Given the description of an element on the screen output the (x, y) to click on. 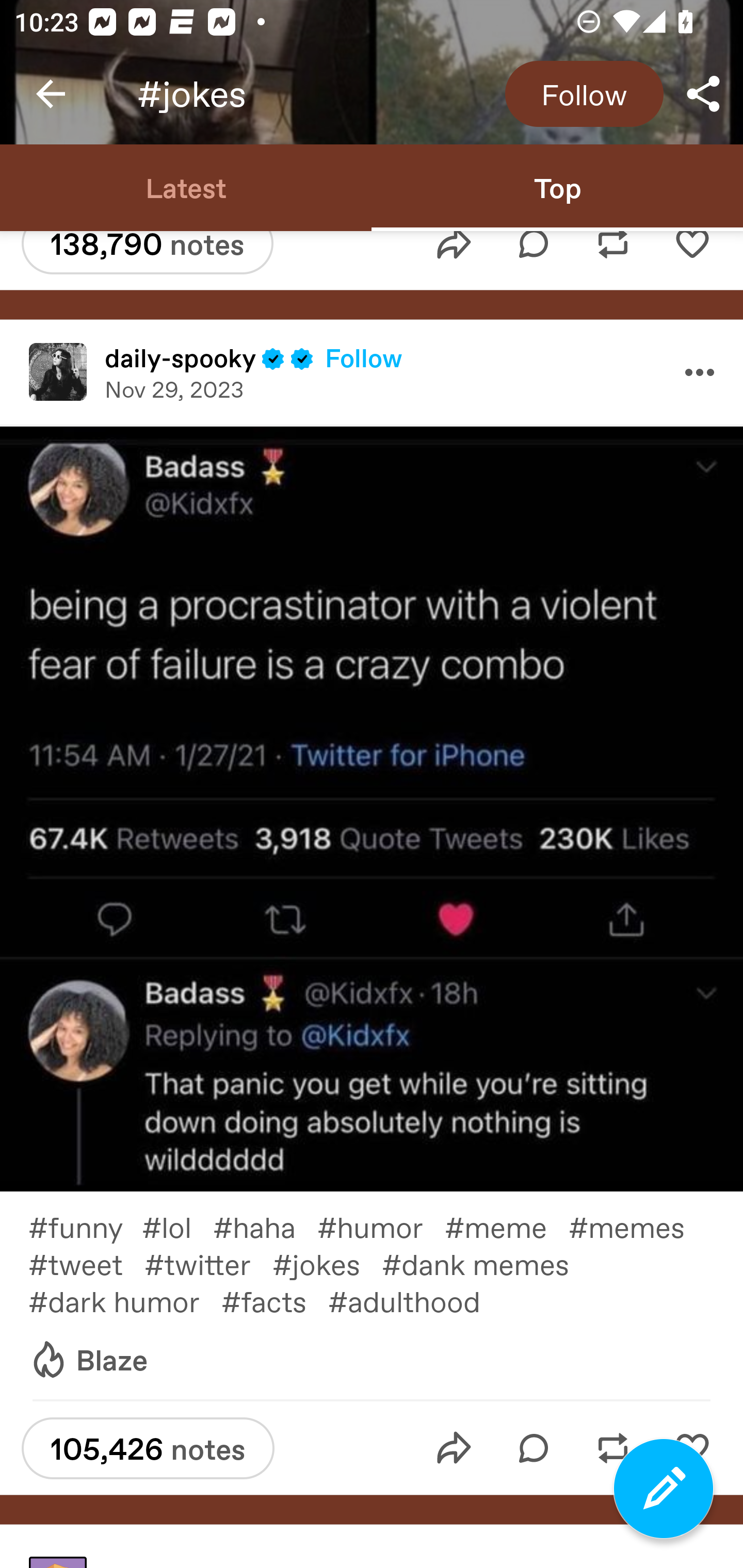
Navigate up (50, 93)
Follow (584, 94)
Latest (185, 187)
138,790 notes (147, 252)
Share post to message (454, 260)
Reply (533, 260)
Reblog (612, 260)
Like (691, 260)
Follow (363, 357)
#funny (84, 1225)
#lol (177, 1225)
#haha (265, 1225)
#humor (381, 1225)
#meme (506, 1225)
#memes (637, 1225)
#tweet (86, 1263)
#twitter (208, 1263)
#jokes (326, 1263)
#dank memes (485, 1263)
#dark humor (124, 1300)
#facts (274, 1300)
#adulthood (418, 1300)
Blaze Blaze Blaze (88, 1359)
Share post to message (454, 1448)
Reply (533, 1448)
Reblog (612, 1448)
105,426 notes (147, 1447)
Compose a new post (663, 1488)
